Given the description of an element on the screen output the (x, y) to click on. 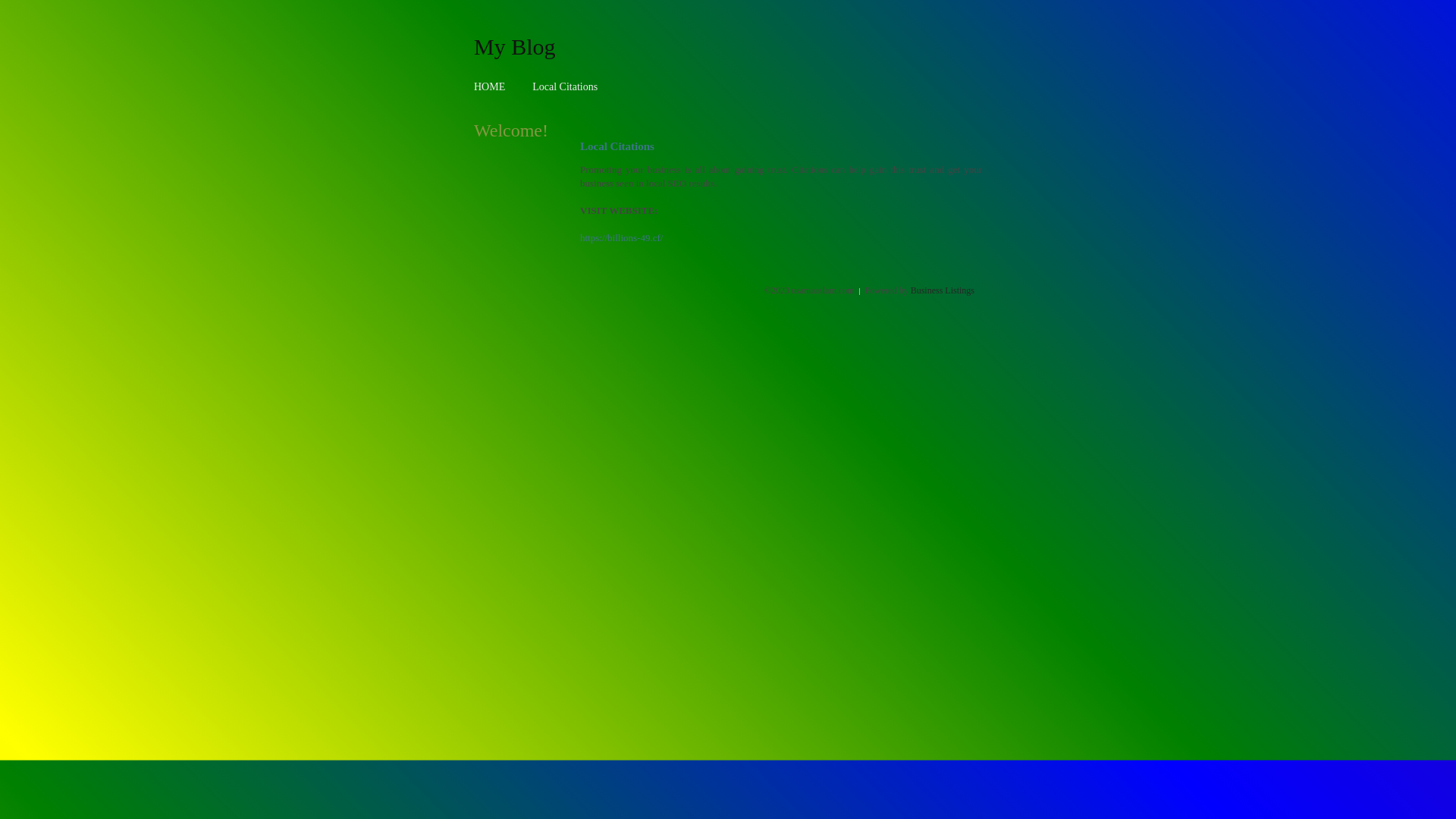
My Blog Element type: text (514, 46)
https://billions-49.cf/ Element type: text (621, 237)
Business Listings Element type: text (942, 290)
Local Citations Element type: text (564, 86)
HOME Element type: text (489, 86)
